Given the description of an element on the screen output the (x, y) to click on. 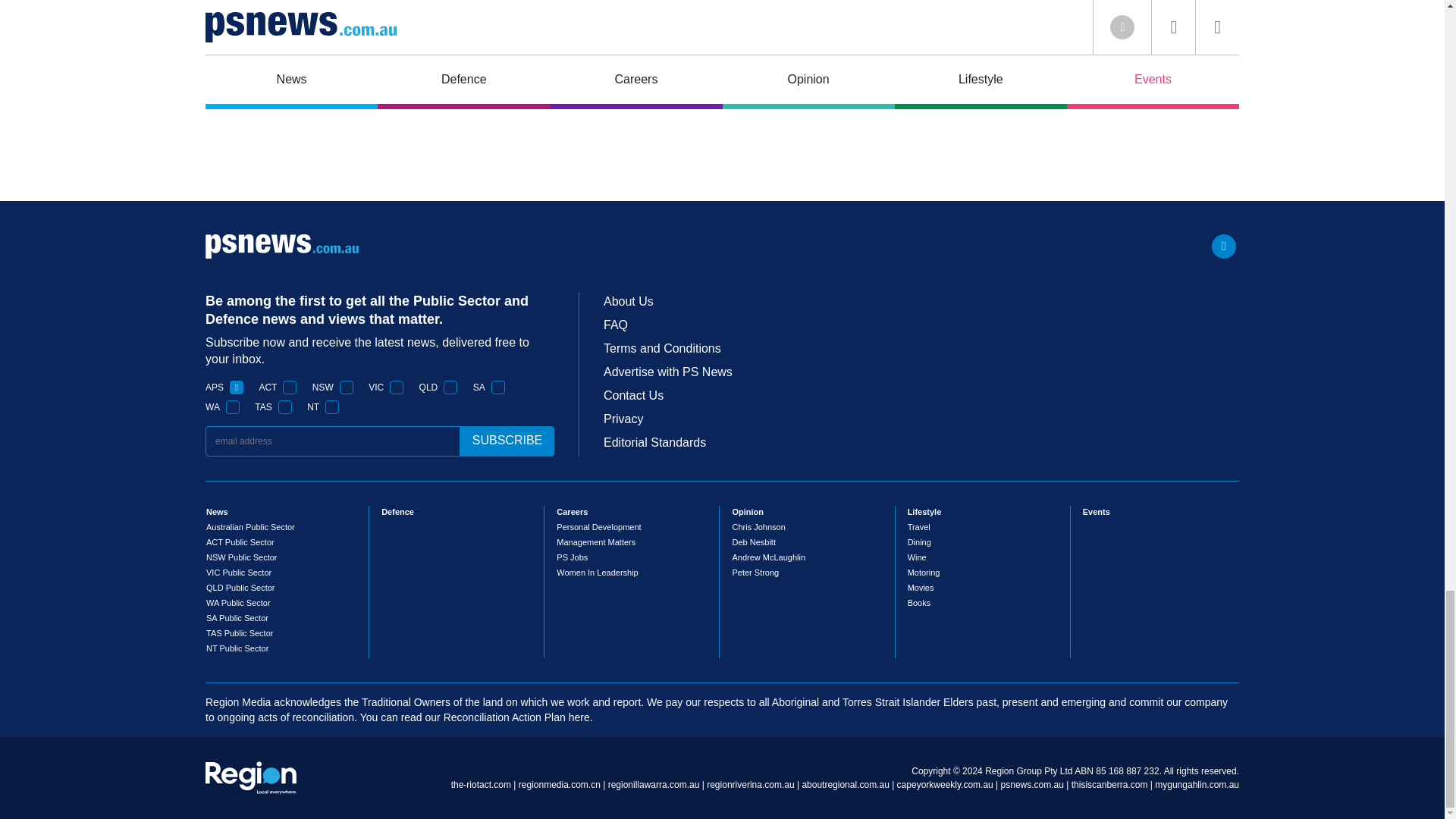
1 (450, 386)
1 (289, 386)
1 (236, 386)
1 (346, 386)
LinkedIn (1223, 246)
3rd party ad content (721, 154)
Region - Local everywhere (251, 778)
1 (331, 407)
1 (285, 407)
1 (232, 407)
